Given the description of an element on the screen output the (x, y) to click on. 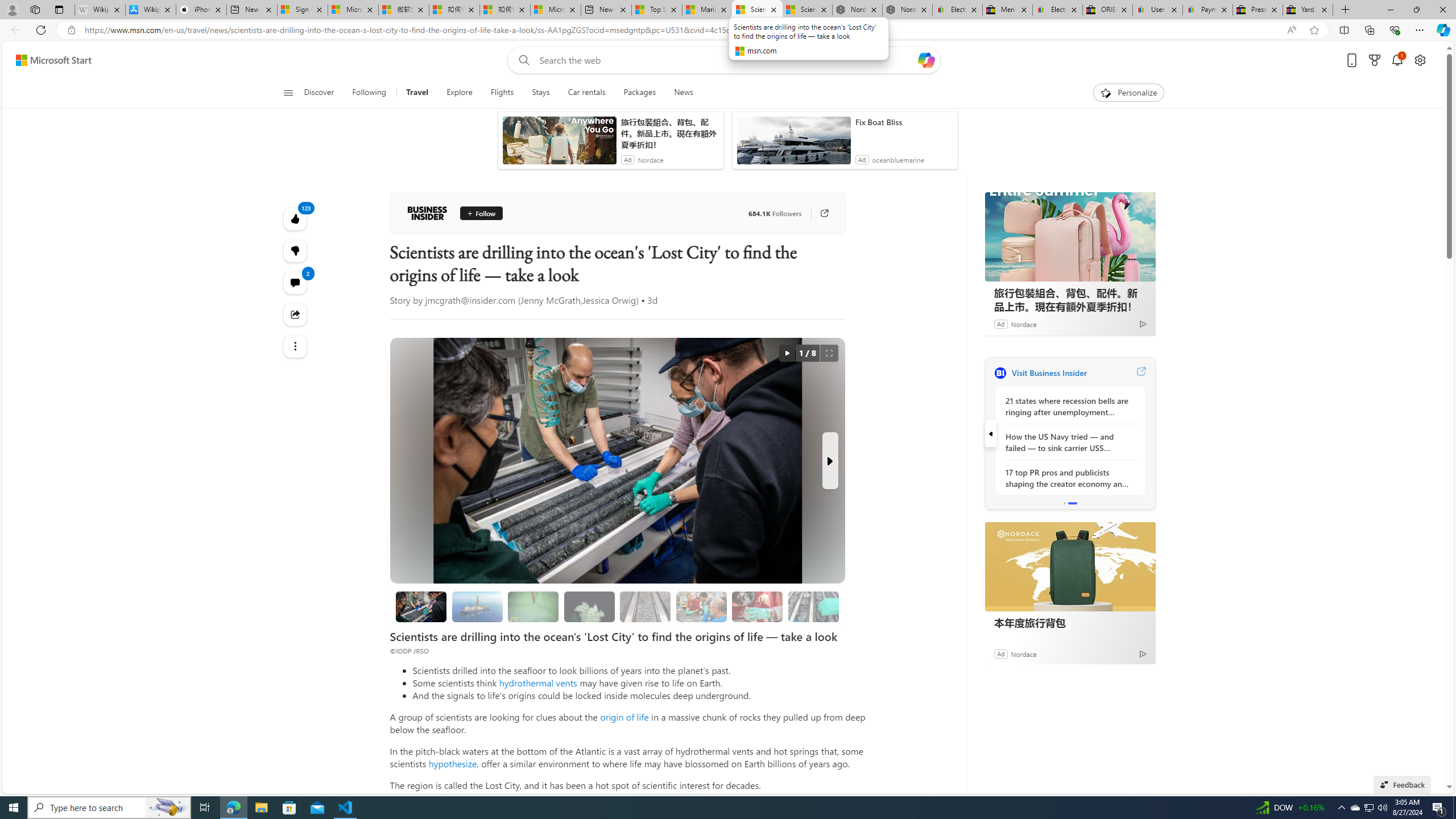
Nordace - FAQ (907, 9)
hypothesize, (453, 763)
Nordace - Summer Adventures 2024 (856, 9)
origin of life (624, 716)
The Lost City could hold clues to the origin of life. (589, 606)
anim-content (793, 144)
Travel (417, 92)
Payments Terms of Use | eBay.com (1207, 9)
